Given the description of an element on the screen output the (x, y) to click on. 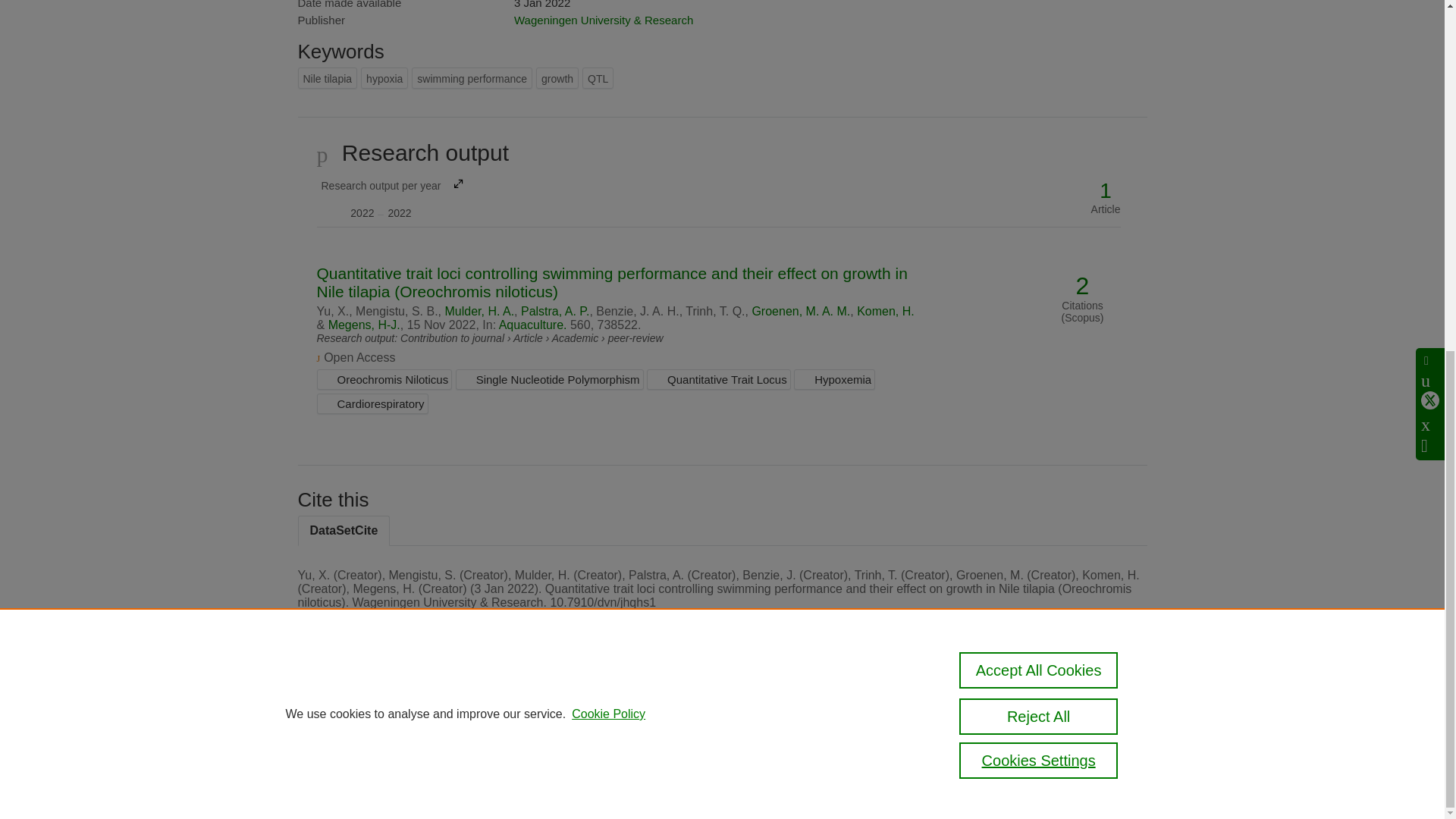
Megens, H-J. (364, 324)
Mulder, H. A. (478, 310)
Groenen, M. A. M. (800, 310)
Komen, H. (885, 310)
Aquaculture. (533, 324)
Palstra, A. P. (555, 310)
1 (1105, 191)
